Given the description of an element on the screen output the (x, y) to click on. 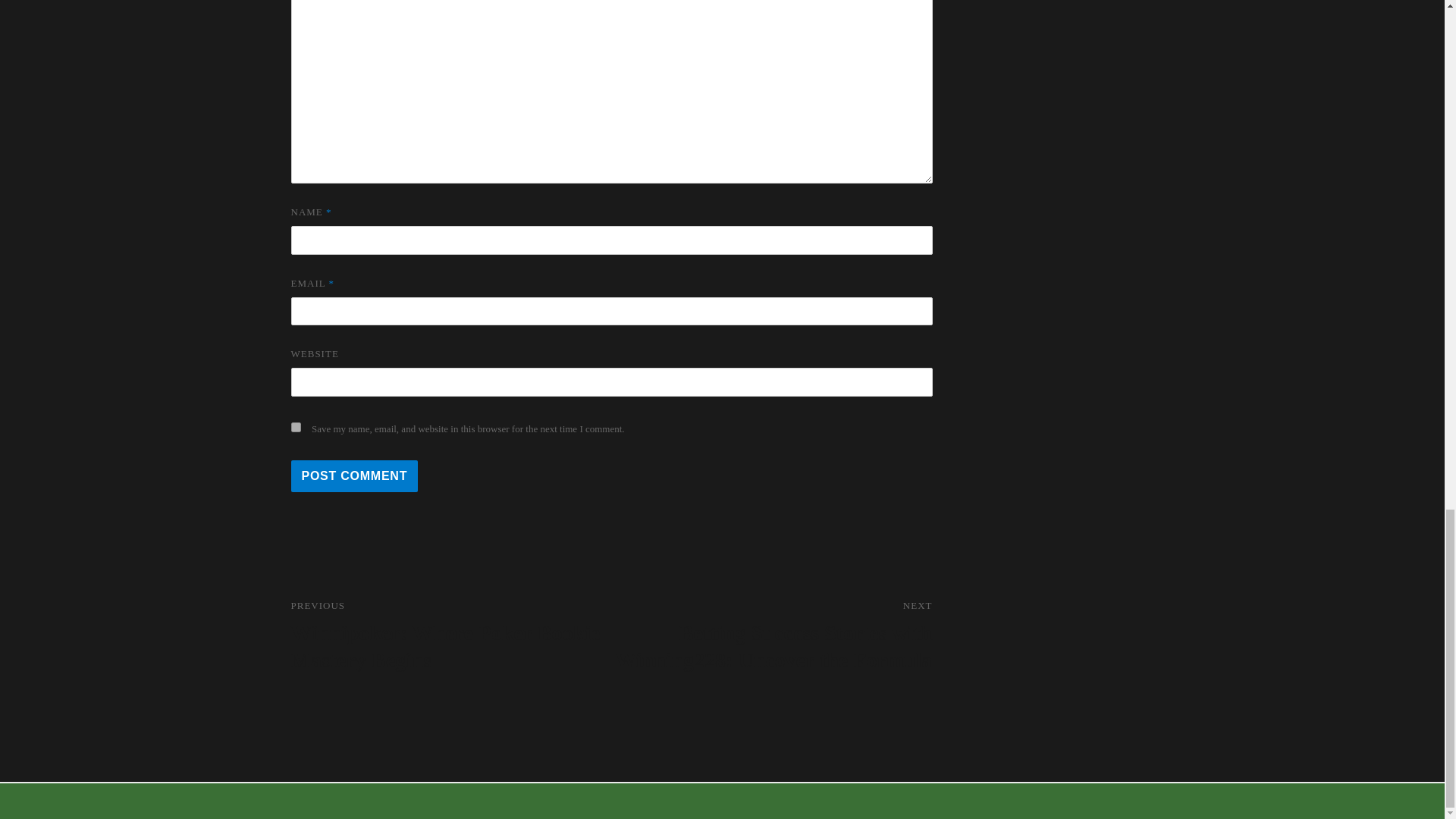
yes (296, 427)
Post Comment (355, 476)
Post Comment (355, 476)
